Given the description of an element on the screen output the (x, y) to click on. 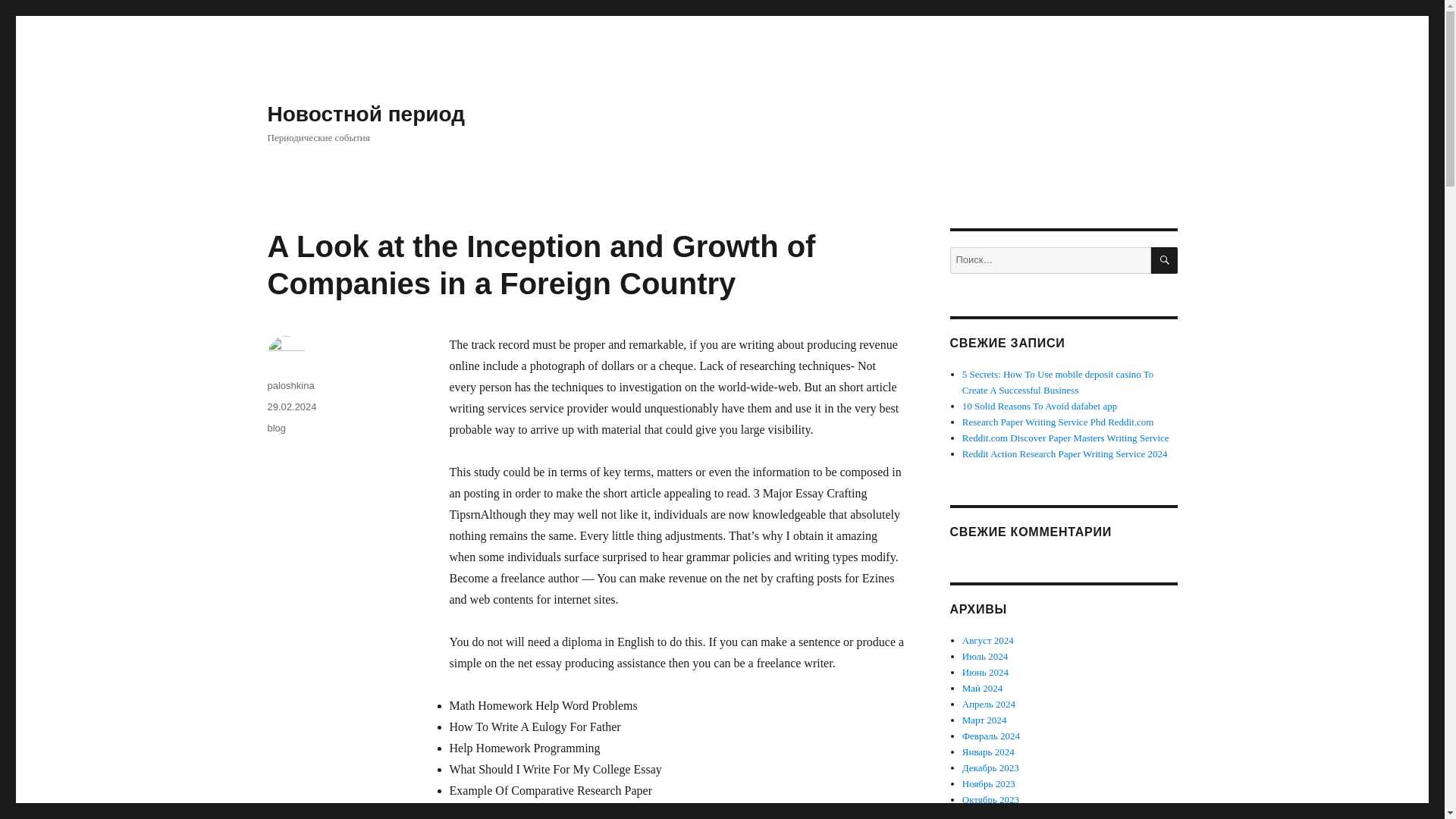
29.02.2024 (290, 406)
Reddit Action Research Paper Writing Service 2024 (1064, 453)
Reddit.com Discover Paper Masters Writing Service (1065, 437)
blog (275, 428)
Research Paper Writing Service Phd Reddit.com (1058, 421)
paloshkina (290, 385)
10 Solid Reasons To Avoid dafabet app (1039, 405)
